Given the description of an element on the screen output the (x, y) to click on. 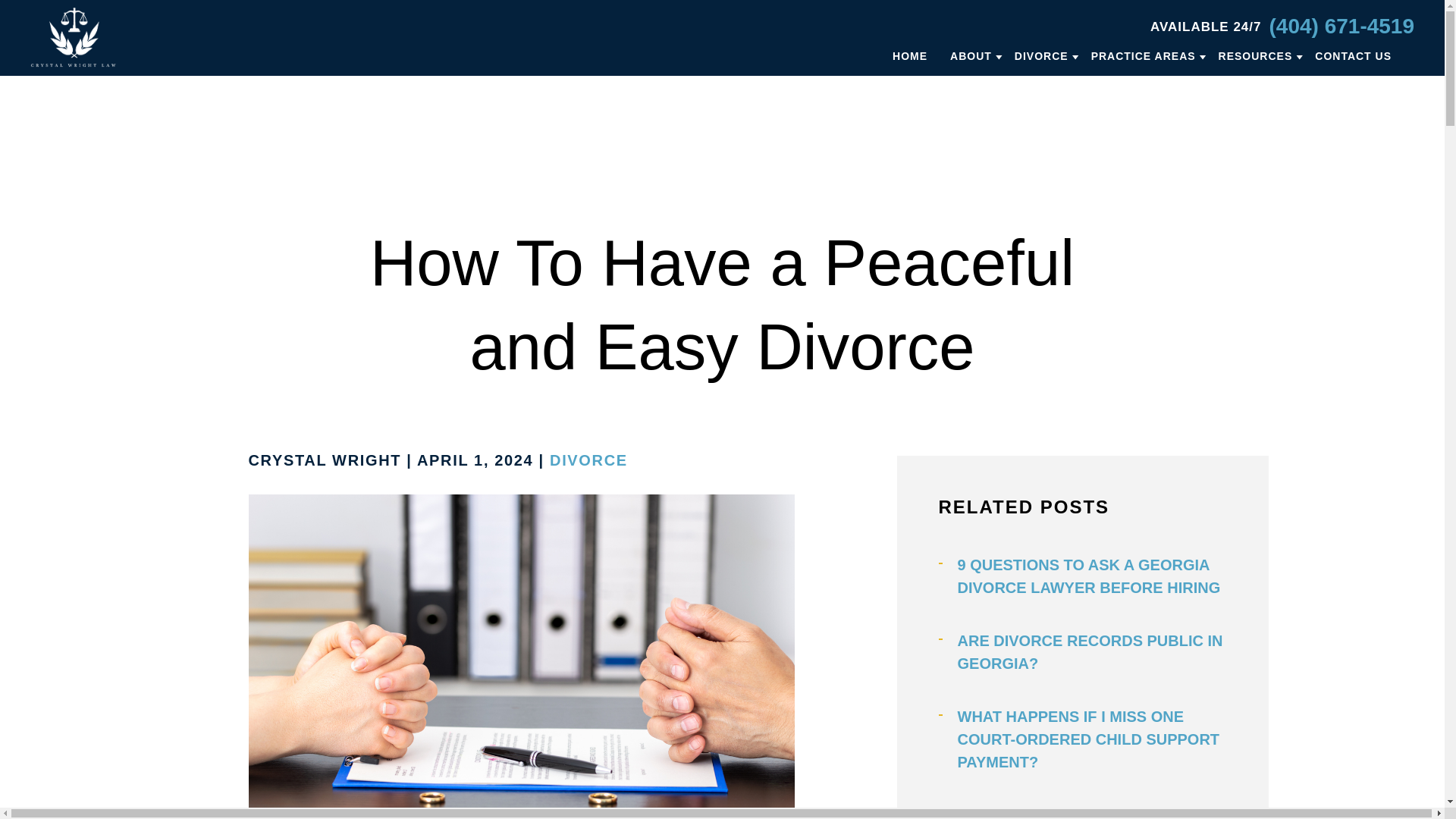
RESOURCES (1255, 54)
DIVORCE (1041, 54)
DIVORCE (588, 460)
CONTACT US (1352, 54)
PRACTICE AREAS (1142, 54)
HOME (909, 54)
ABOUT (970, 54)
